Given the description of an element on the screen output the (x, y) to click on. 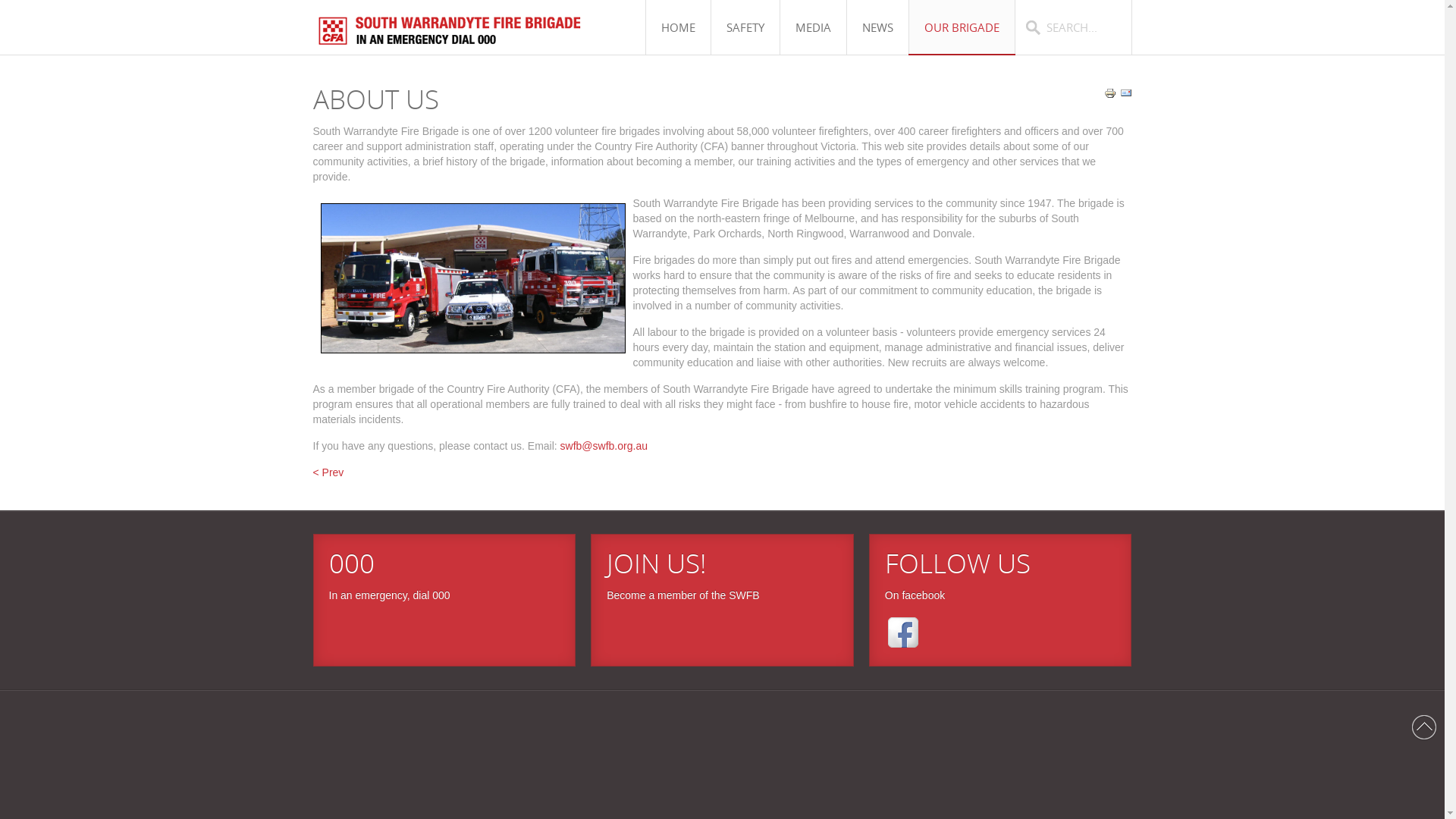
Print Element type: hover (1110, 95)
swfb@swfb.org.au Element type: text (603, 445)
Reset Element type: text (3, 3)
logo Element type: hover (456, 38)
MEDIA Element type: text (813, 27)
SAFETY Element type: text (744, 27)
< Prev Element type: text (327, 472)
NEWS Element type: text (877, 27)
Become a member of the SWFB Element type: text (682, 595)
OUR BRIGADE Element type: text (961, 27)
HOME Element type: text (677, 27)
Email Element type: hover (1125, 95)
On facebook Element type: text (914, 595)
